Given the description of an element on the screen output the (x, y) to click on. 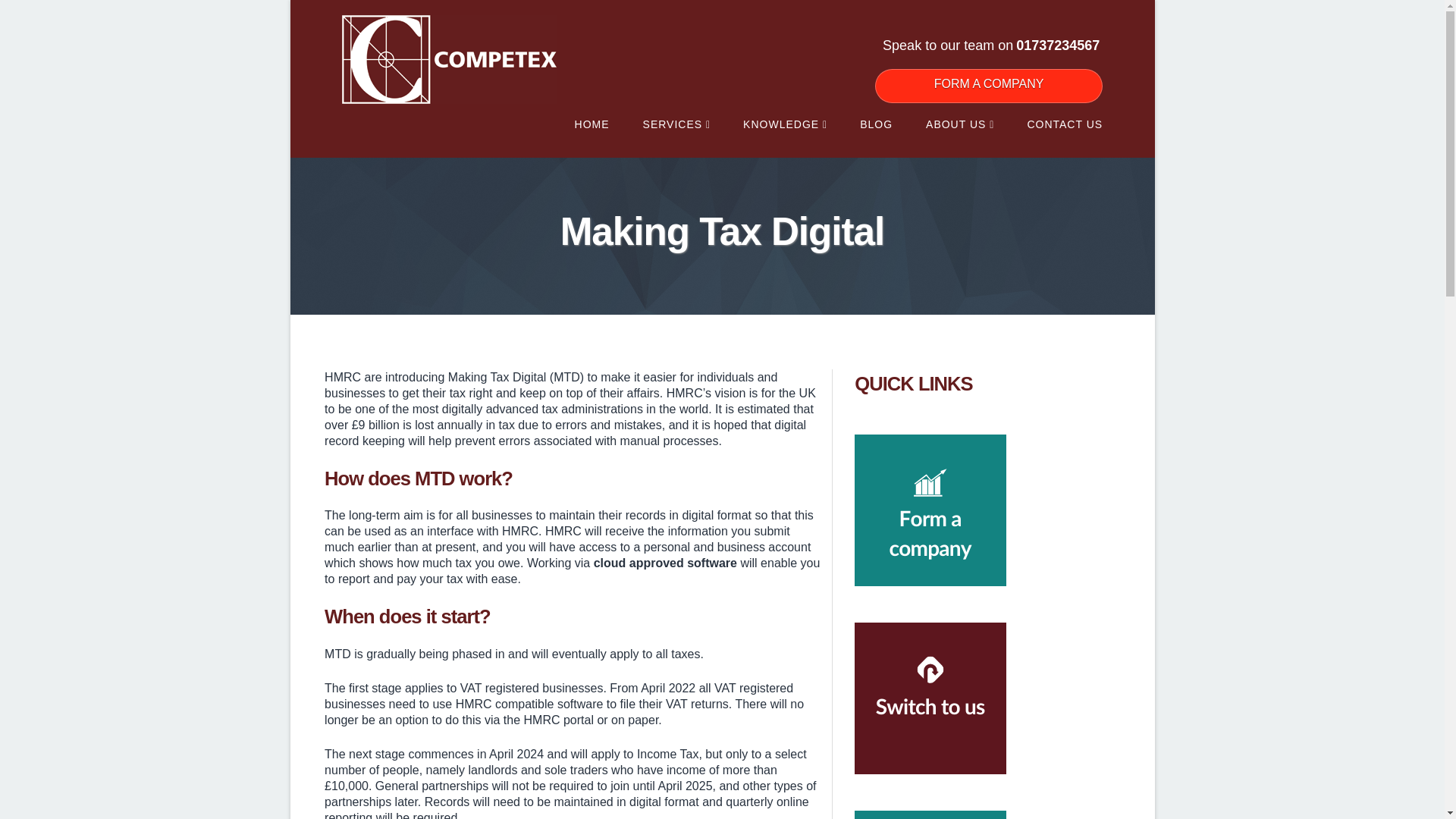
Form A Company (988, 85)
HOME (592, 124)
SERVICES (676, 124)
KNOWLEDGE (784, 124)
BLOG (876, 124)
FORM A COMPANY (988, 85)
01737234567 (1057, 45)
